Given the description of an element on the screen output the (x, y) to click on. 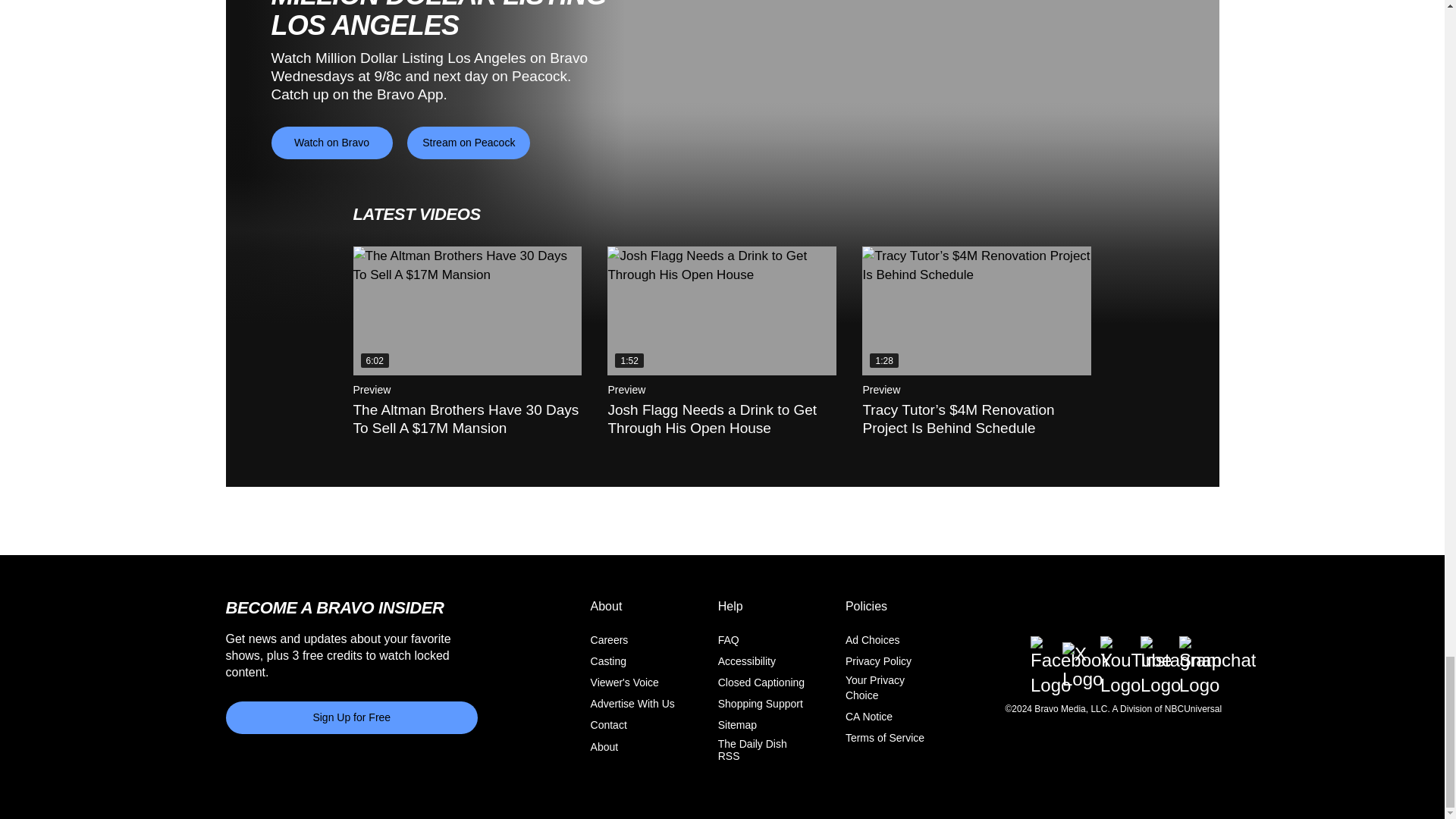
Advertise With Us (633, 703)
Josh Flagg Needs a Drink to Get Through His Open House (721, 310)
